Given the description of an element on the screen output the (x, y) to click on. 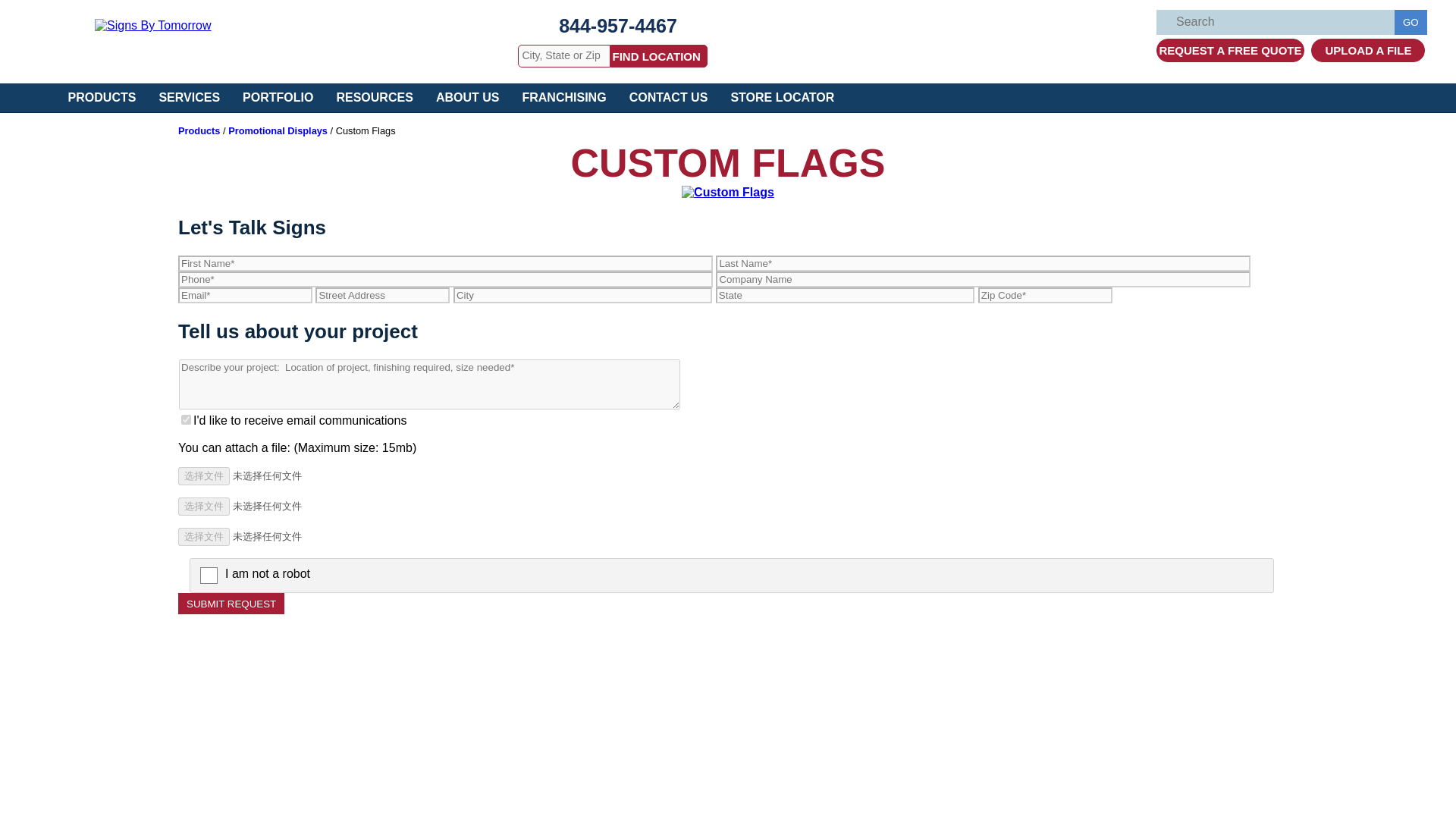
RESOURCES (374, 97)
STORE LOCATOR (782, 97)
Request A Free Quote (1230, 50)
Go (1410, 22)
Find Location (658, 56)
PRODUCTS (101, 97)
Products (198, 130)
844-957-4467 (618, 25)
PORTFOLIO (277, 97)
CALL US 844-957-4467 (618, 25)
Signs By Tomorrow (152, 24)
SERVICES (189, 97)
Promotional Displays (277, 130)
CONTACT US (668, 97)
1 (185, 419)
